Given the description of an element on the screen output the (x, y) to click on. 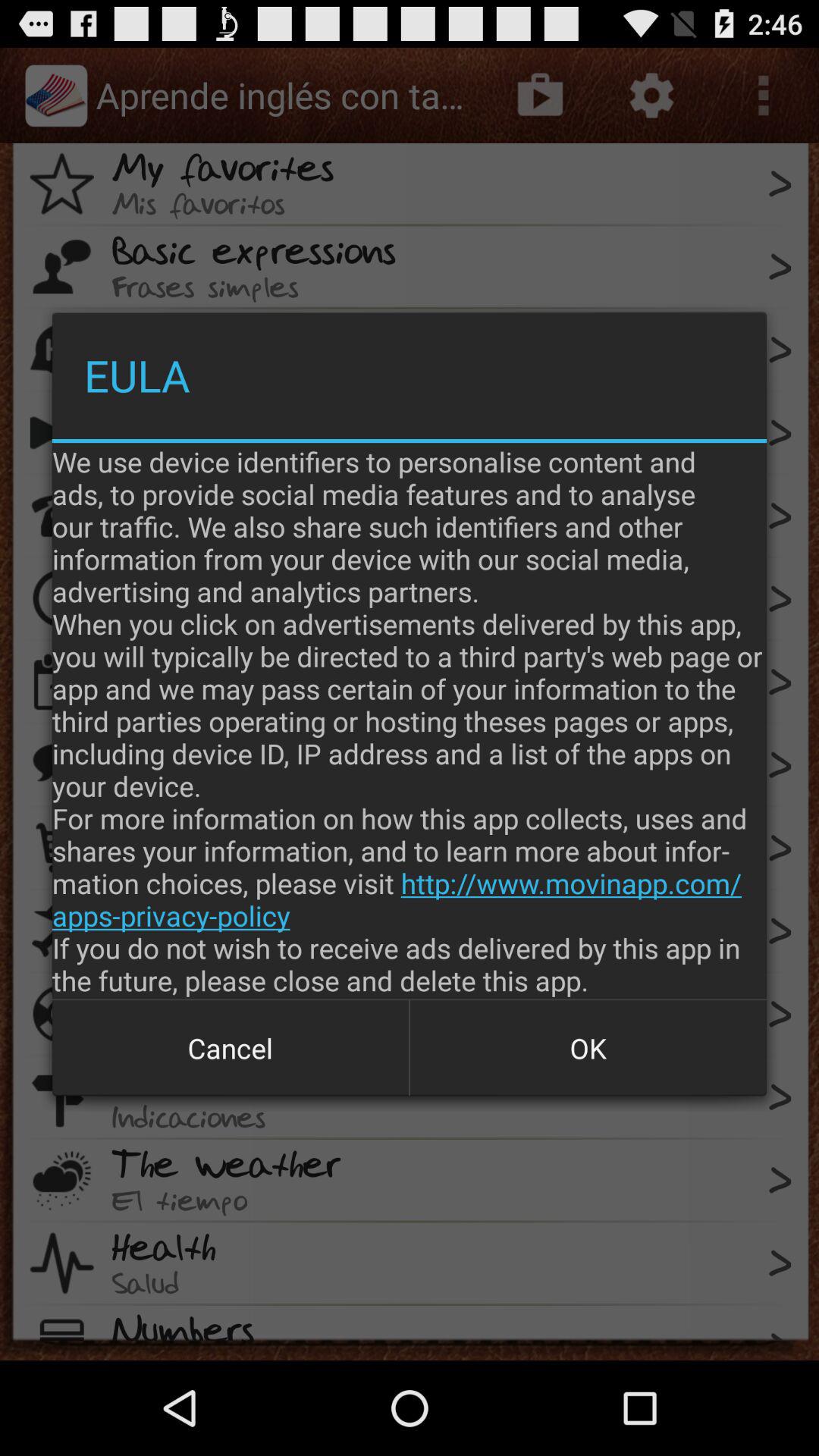
scroll to we use device item (409, 721)
